Given the description of an element on the screen output the (x, y) to click on. 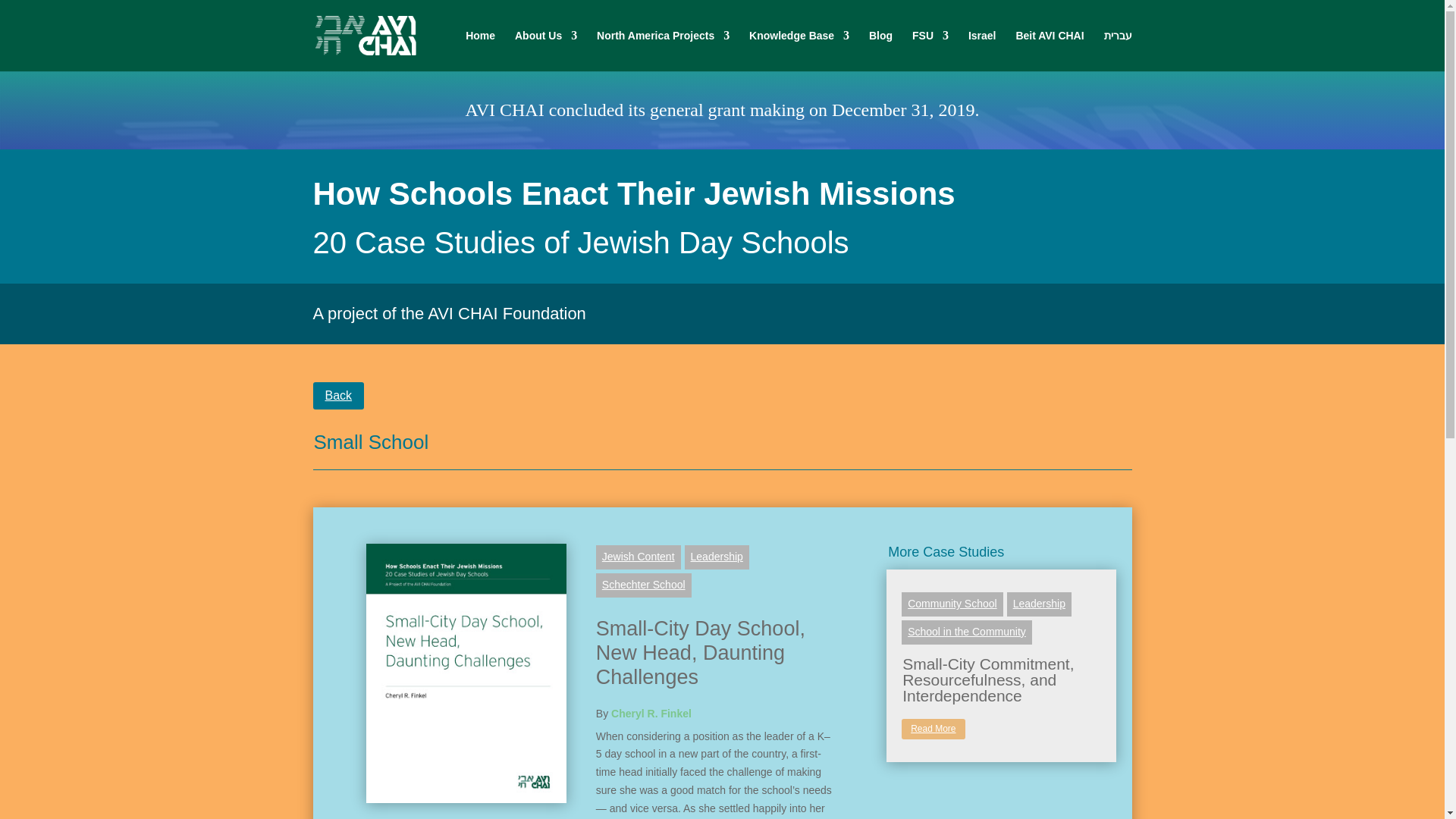
About Us (545, 50)
North America Projects (662, 50)
Posts by Cheryl R. Finkel (651, 713)
Beit AVI CHAI (1048, 50)
FSU (930, 50)
Knowledge Base (798, 50)
